Given the description of an element on the screen output the (x, y) to click on. 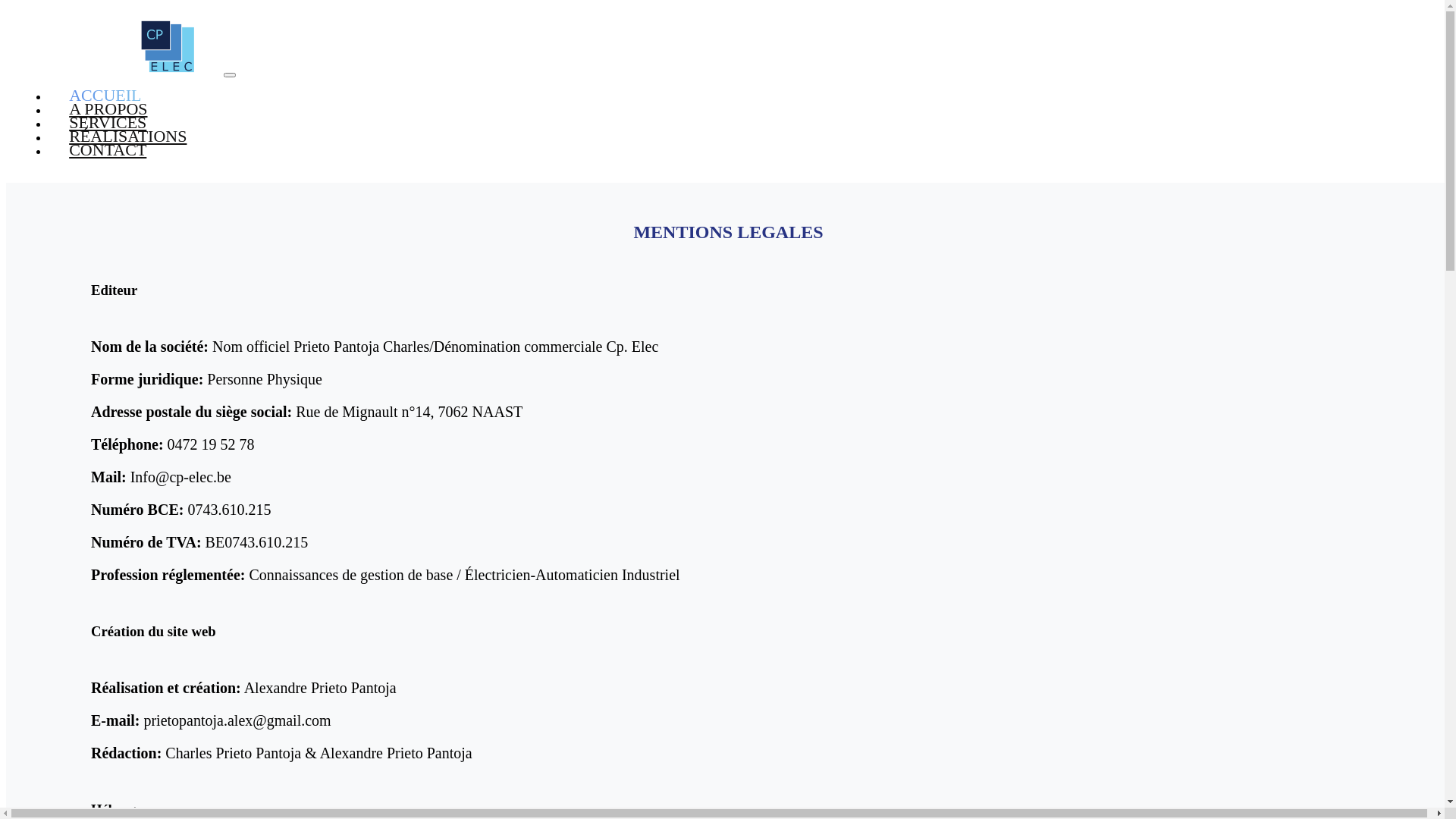
A PROPOS Element type: text (108, 108)
ACCUEIL Element type: text (105, 95)
SERVICES Element type: text (107, 122)
CONTACT Element type: text (107, 149)
